Given the description of an element on the screen output the (x, y) to click on. 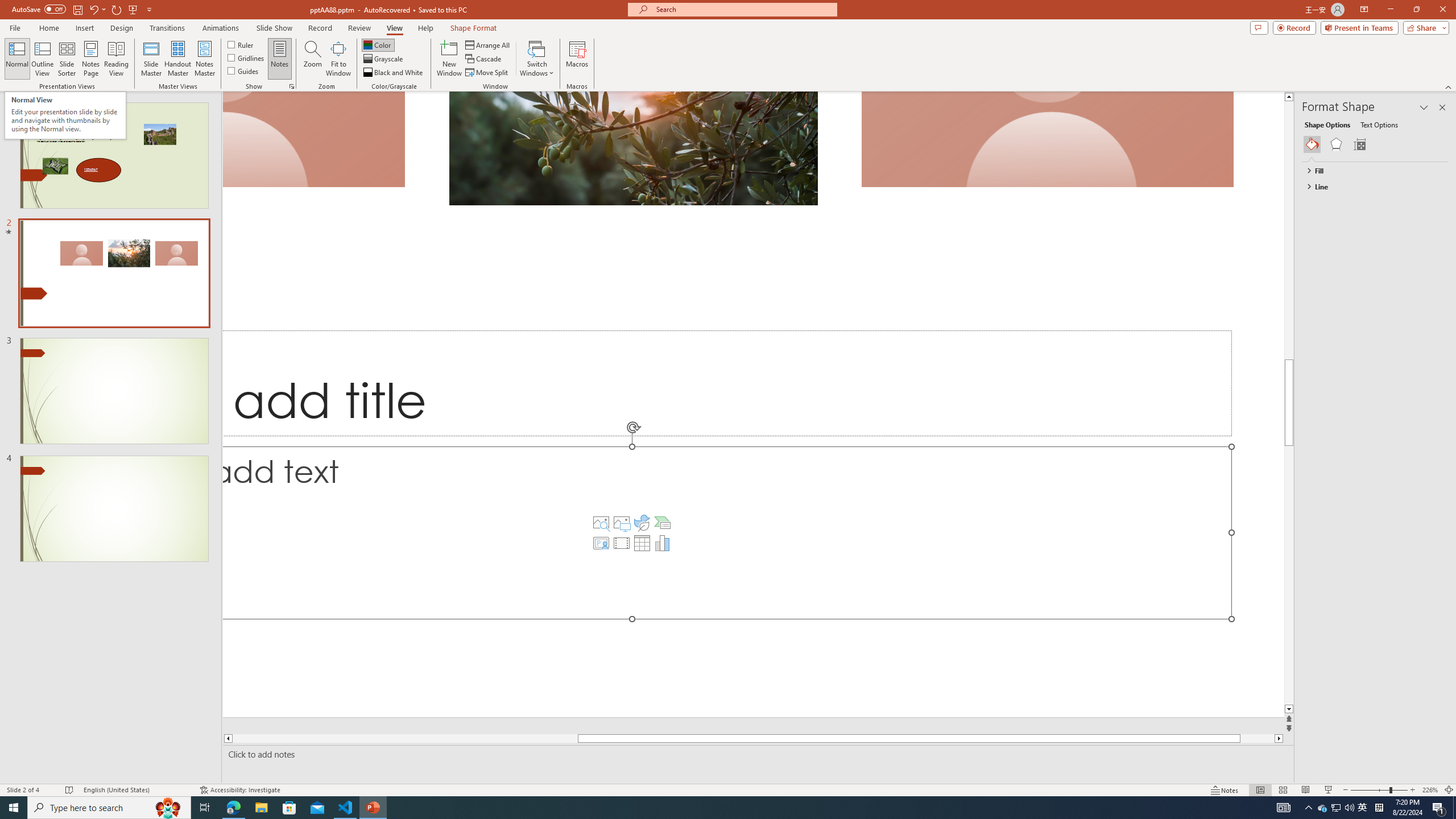
Macros (576, 58)
Fit to Window (338, 58)
Insert an Icon (641, 522)
Outline View (42, 58)
